Given the description of an element on the screen output the (x, y) to click on. 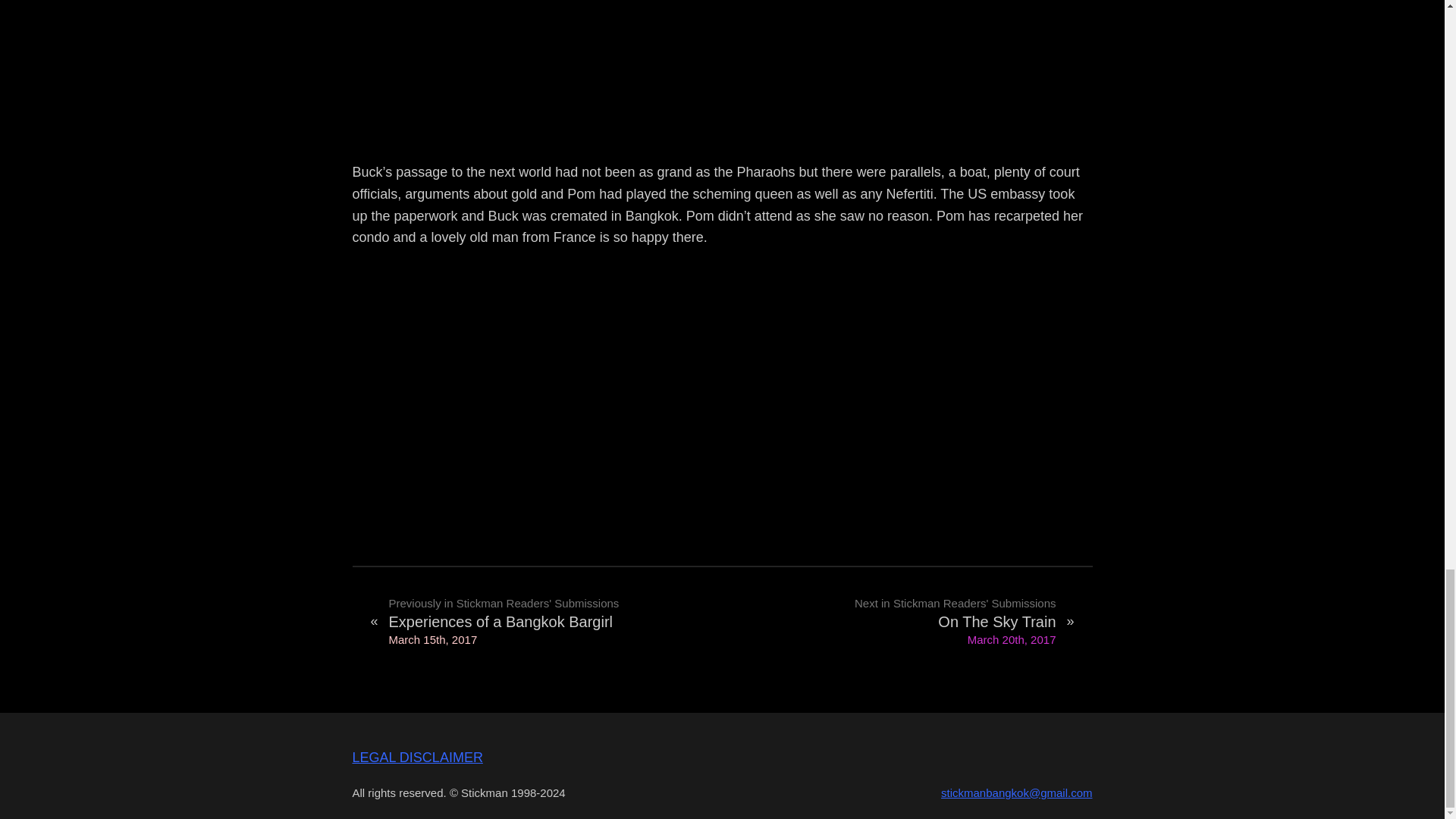
LEGAL DISCLAIMER (416, 757)
